Given the description of an element on the screen output the (x, y) to click on. 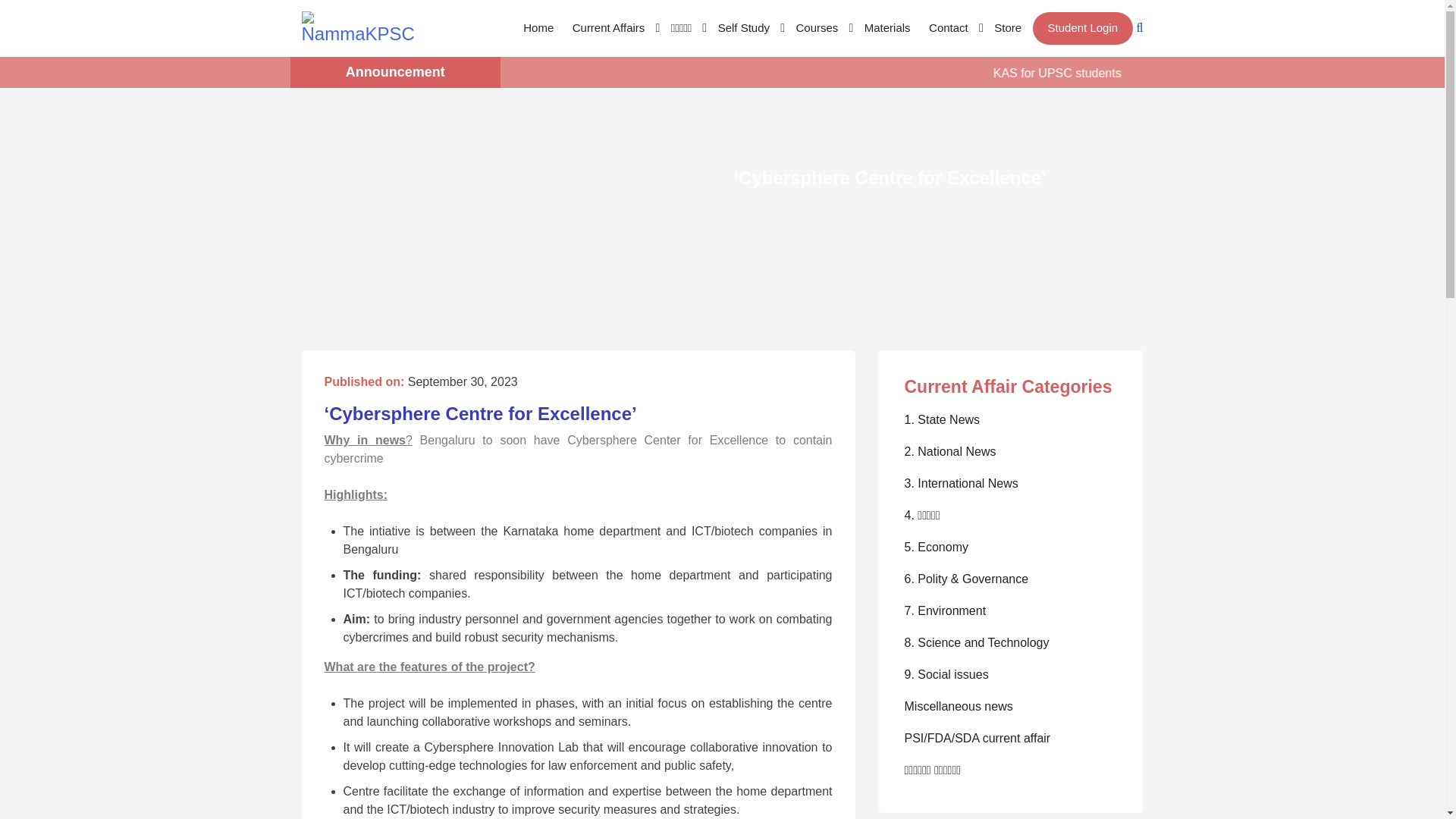
Home (537, 28)
Contact (952, 28)
Current Affairs (612, 28)
Search (42, 18)
Materials (887, 28)
Courses (820, 28)
KAS for UPSC students (1138, 72)
Store (1008, 28)
Self Study (747, 28)
Student Login (1083, 28)
